Given the description of an element on the screen output the (x, y) to click on. 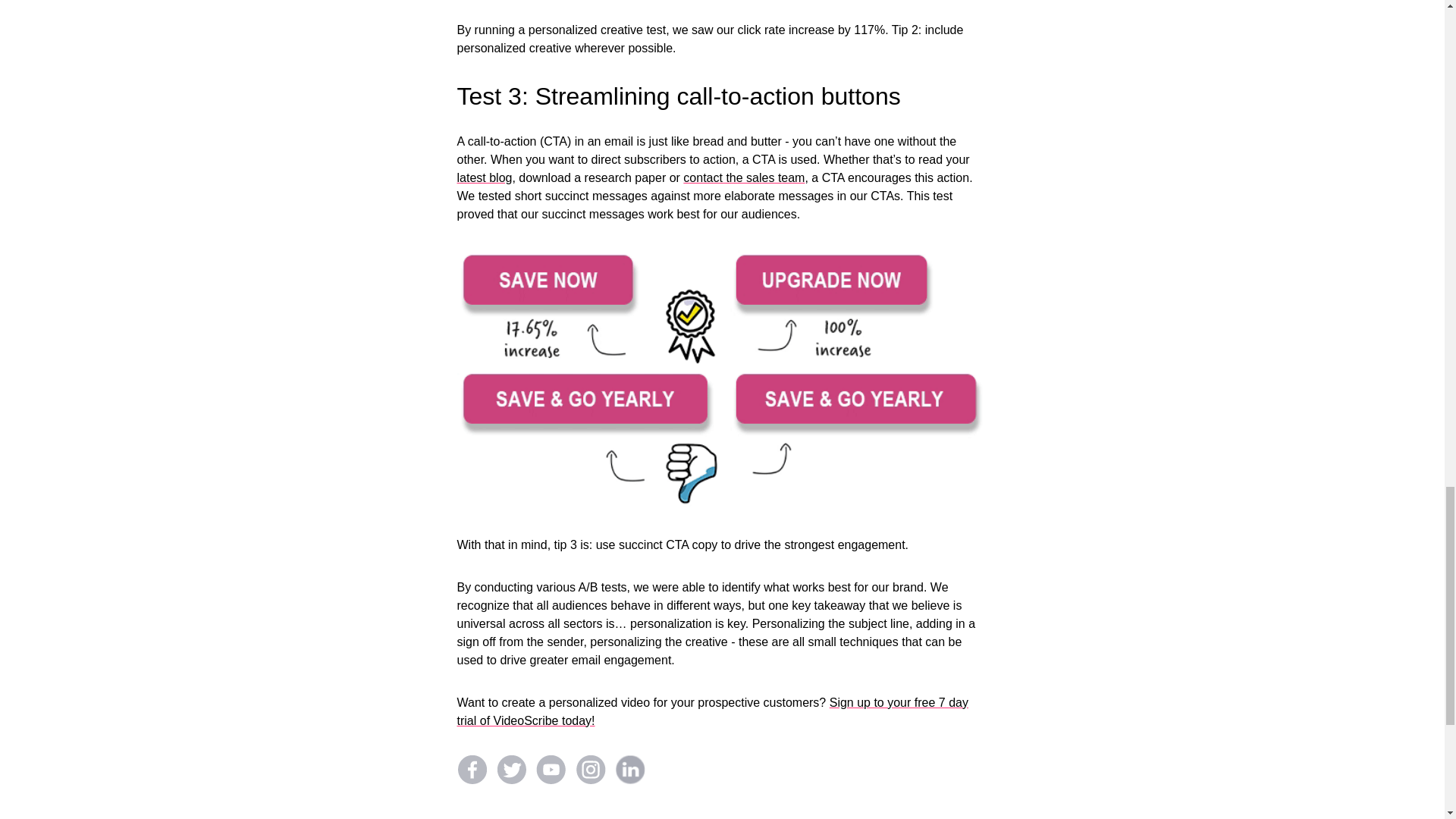
contact the sales team (743, 177)
latest blog (484, 177)
Sign up to your free 7 day trial of VideoScribe today! (712, 711)
